Given the description of an element on the screen output the (x, y) to click on. 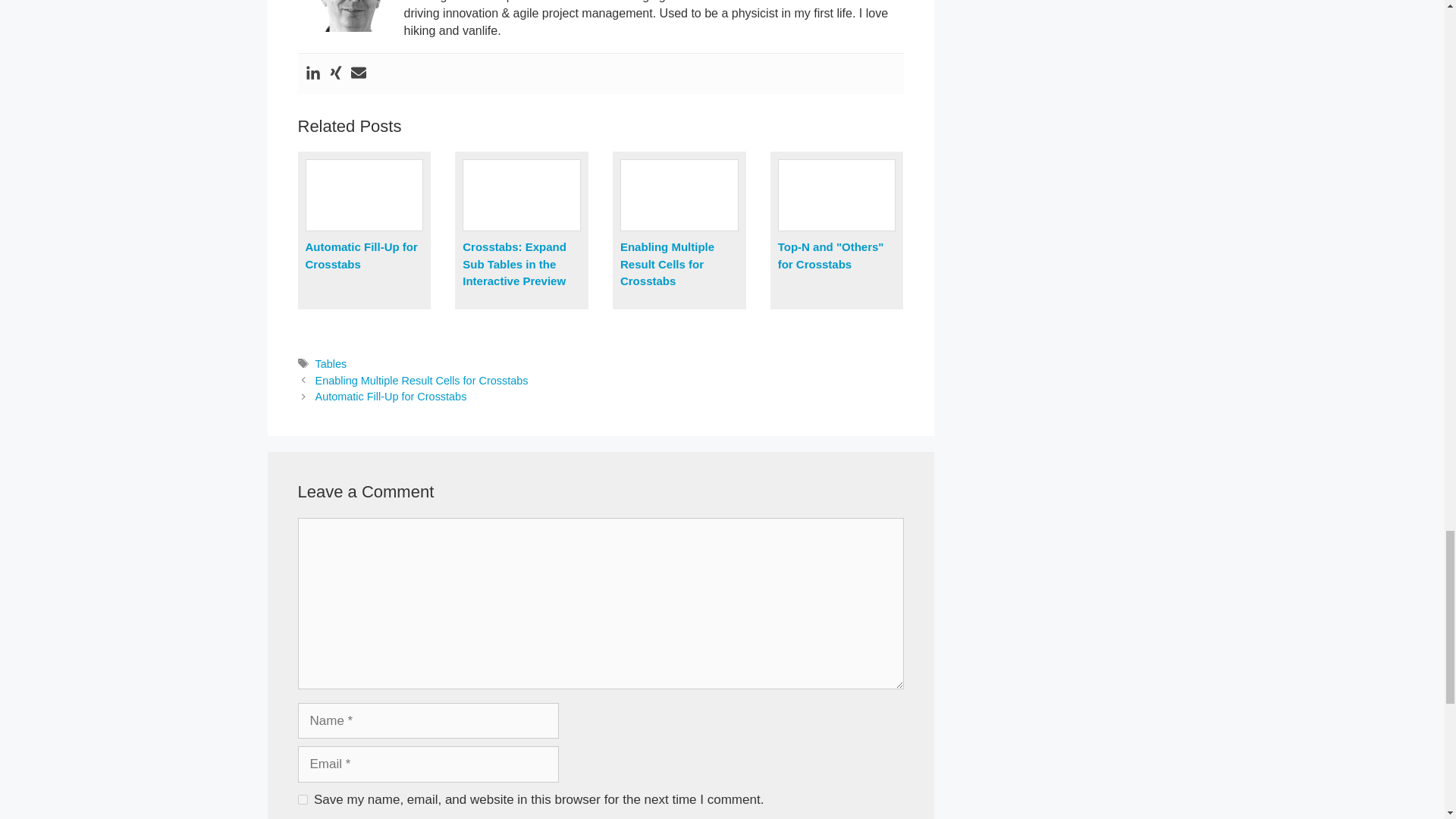
yes (302, 799)
